Given the description of an element on the screen output the (x, y) to click on. 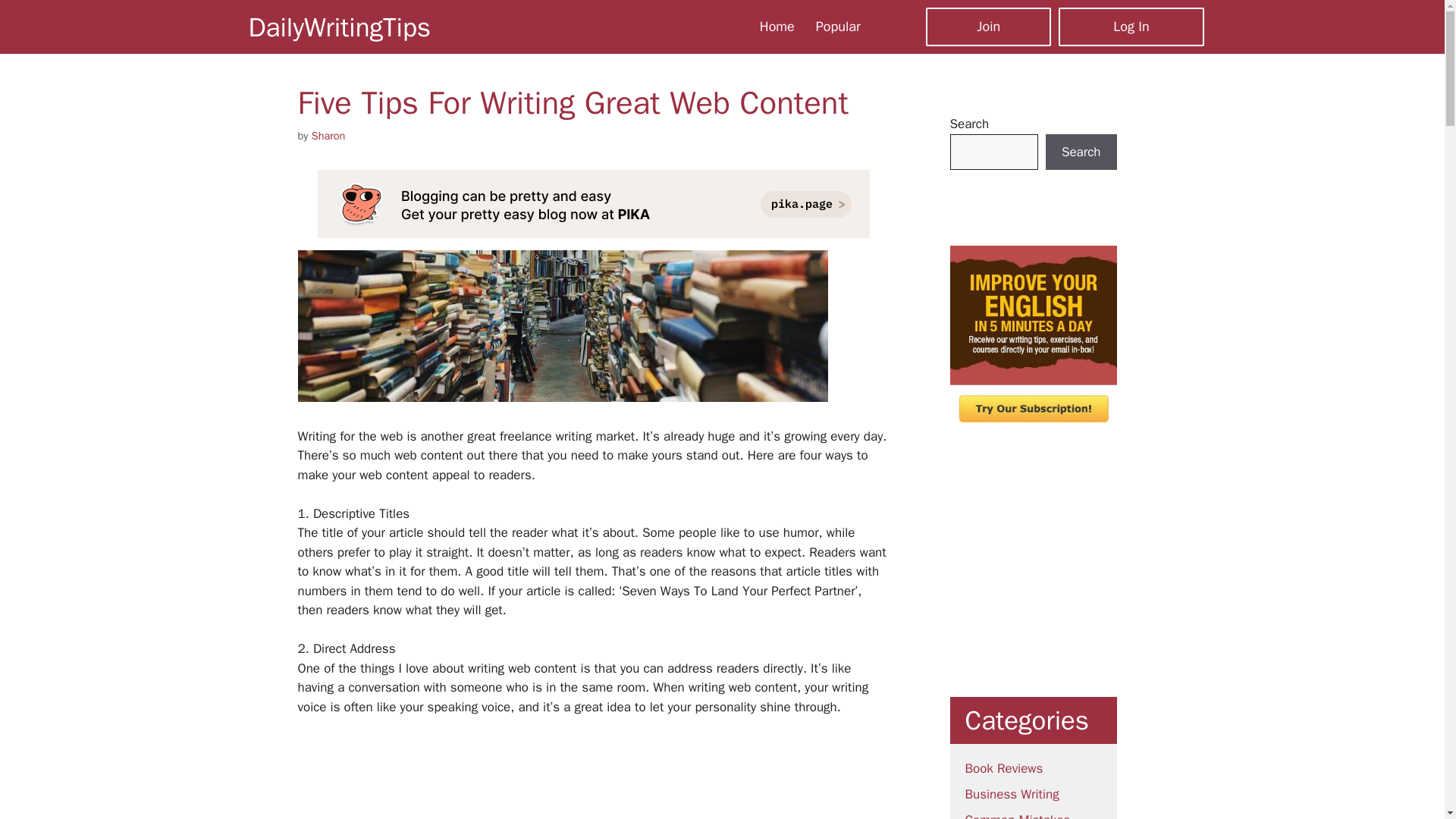
Common Mistakes (1016, 815)
Popular (837, 26)
Home (777, 26)
Log In (1131, 26)
Sharon (328, 135)
Search (1080, 151)
View all posts by Sharon (328, 135)
Book Reviews (1002, 768)
Business Writing (1010, 794)
Join (988, 26)
